Given the description of an element on the screen output the (x, y) to click on. 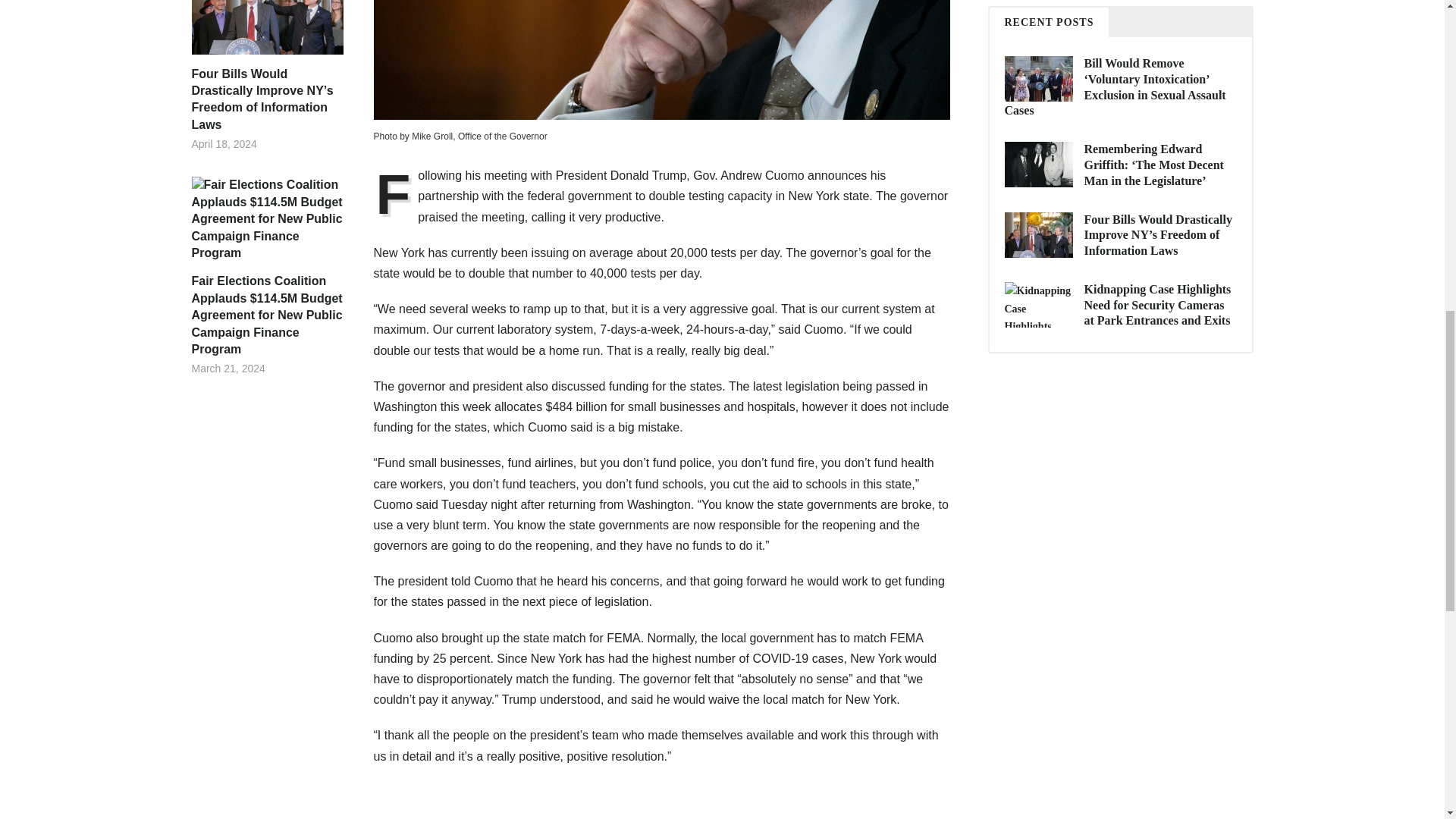
Recent Posts (1048, 21)
